Given the description of an element on the screen output the (x, y) to click on. 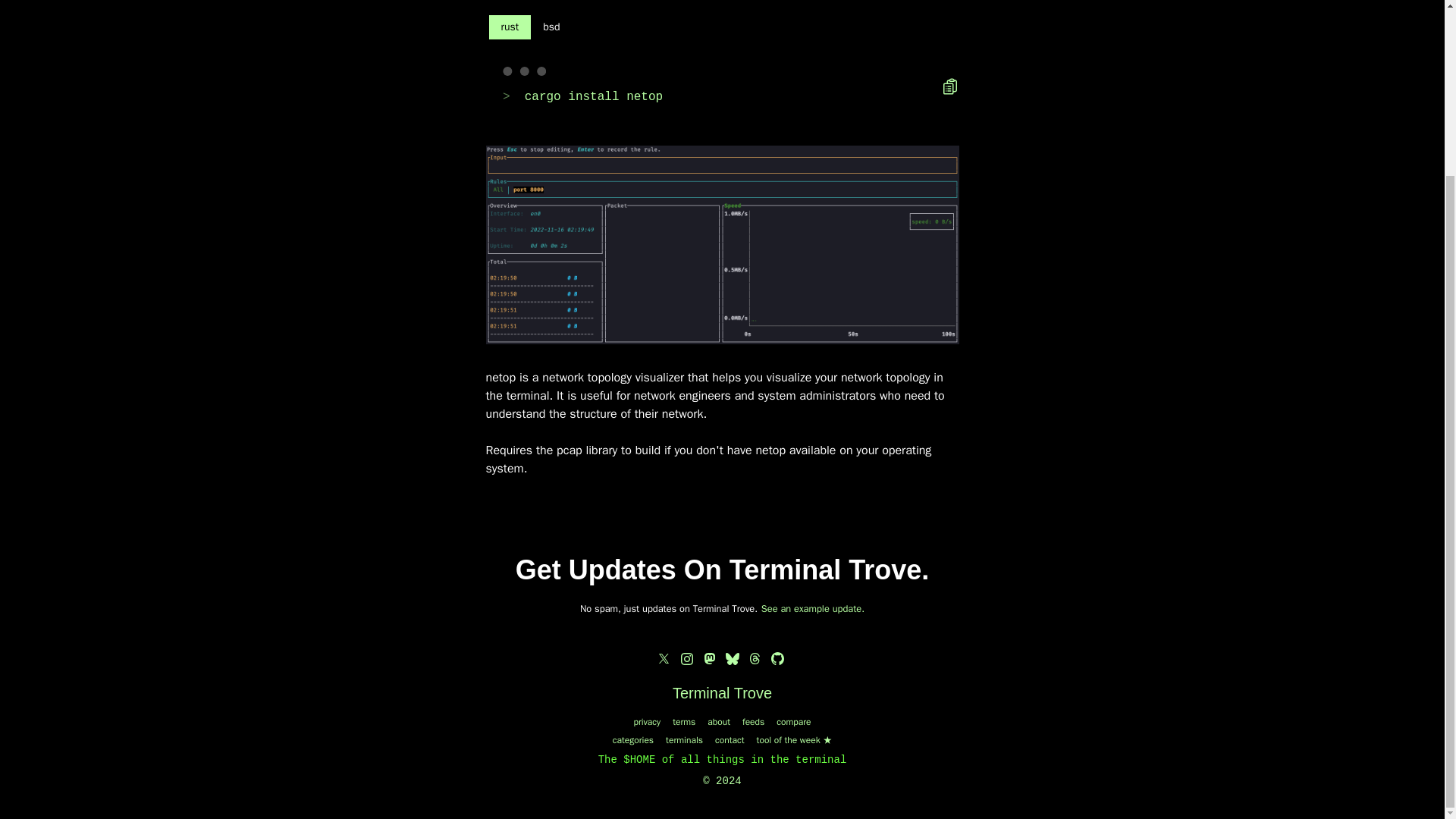
See an example update. (812, 607)
SHARE (856, 180)
rust (509, 27)
bsd (551, 27)
